Given the description of an element on the screen output the (x, y) to click on. 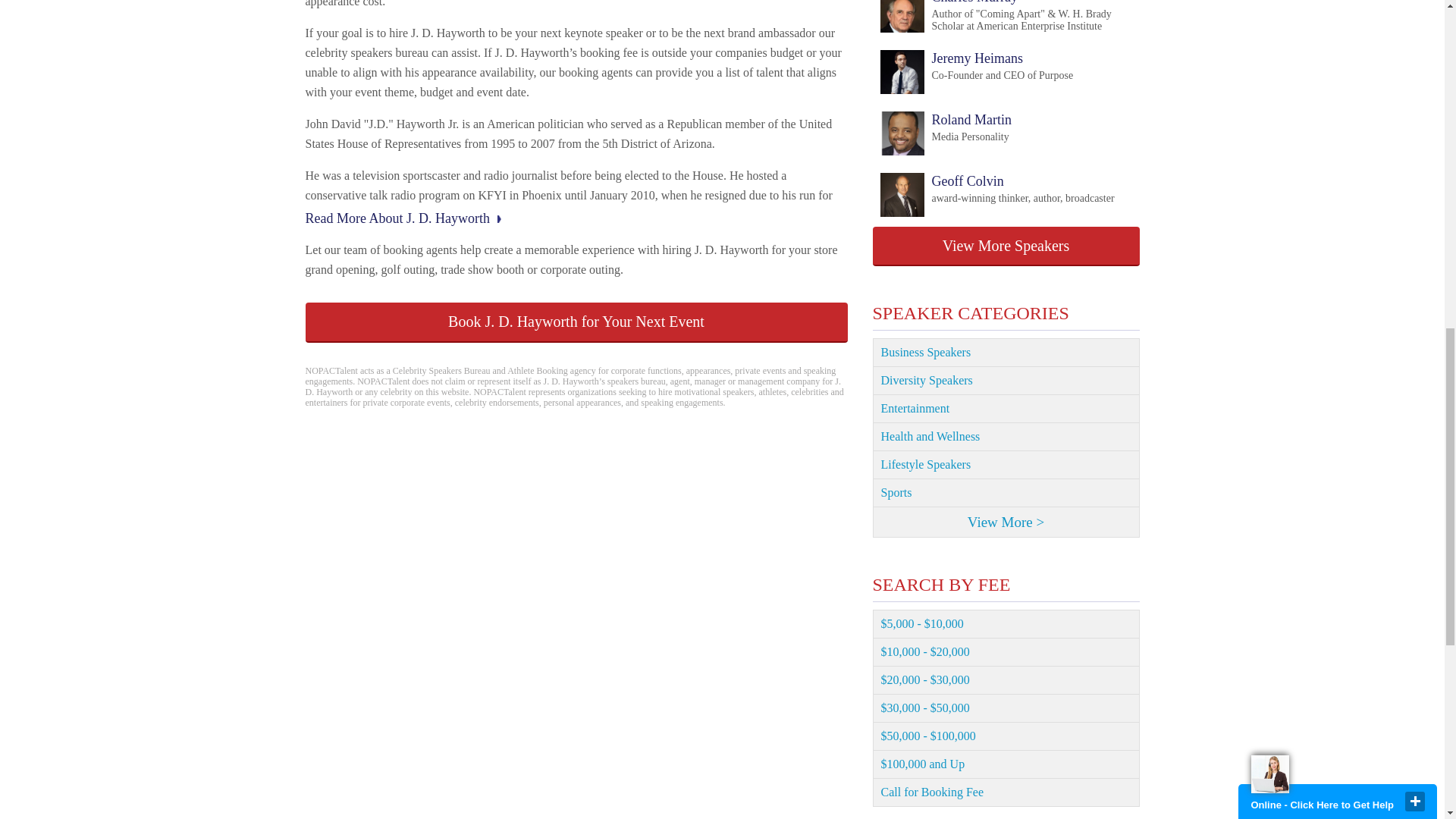
Diversity Speakers (1005, 380)
Sports (1005, 492)
Book J. D. Hayworth for Your Next Event (575, 322)
Lifestyle Speakers (1005, 465)
View More Speakers (1005, 246)
Business Speakers (996, 195)
Health and Wellness (1005, 352)
Entertainment (1005, 437)
